Given the description of an element on the screen output the (x, y) to click on. 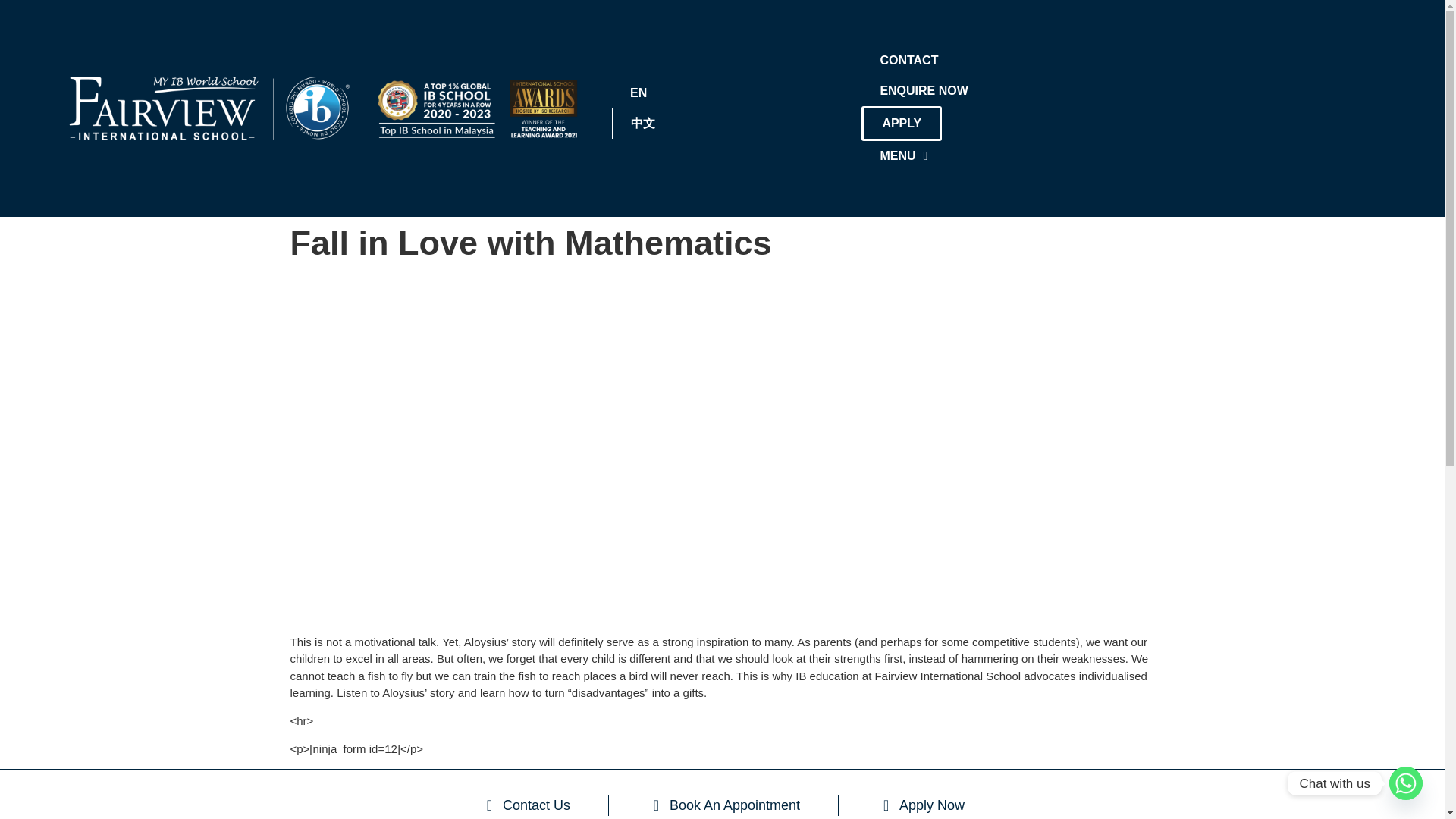
MENU (902, 155)
APPLY (901, 123)
EN (638, 92)
ENQUIRE NOW (923, 91)
CONTACT (908, 60)
